Given the description of an element on the screen output the (x, y) to click on. 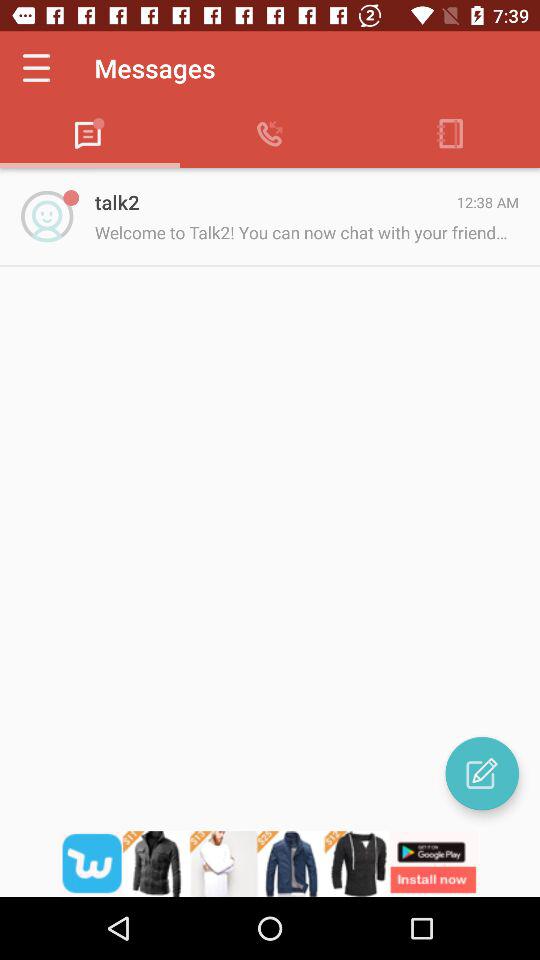
install app (270, 864)
